Given the description of an element on the screen output the (x, y) to click on. 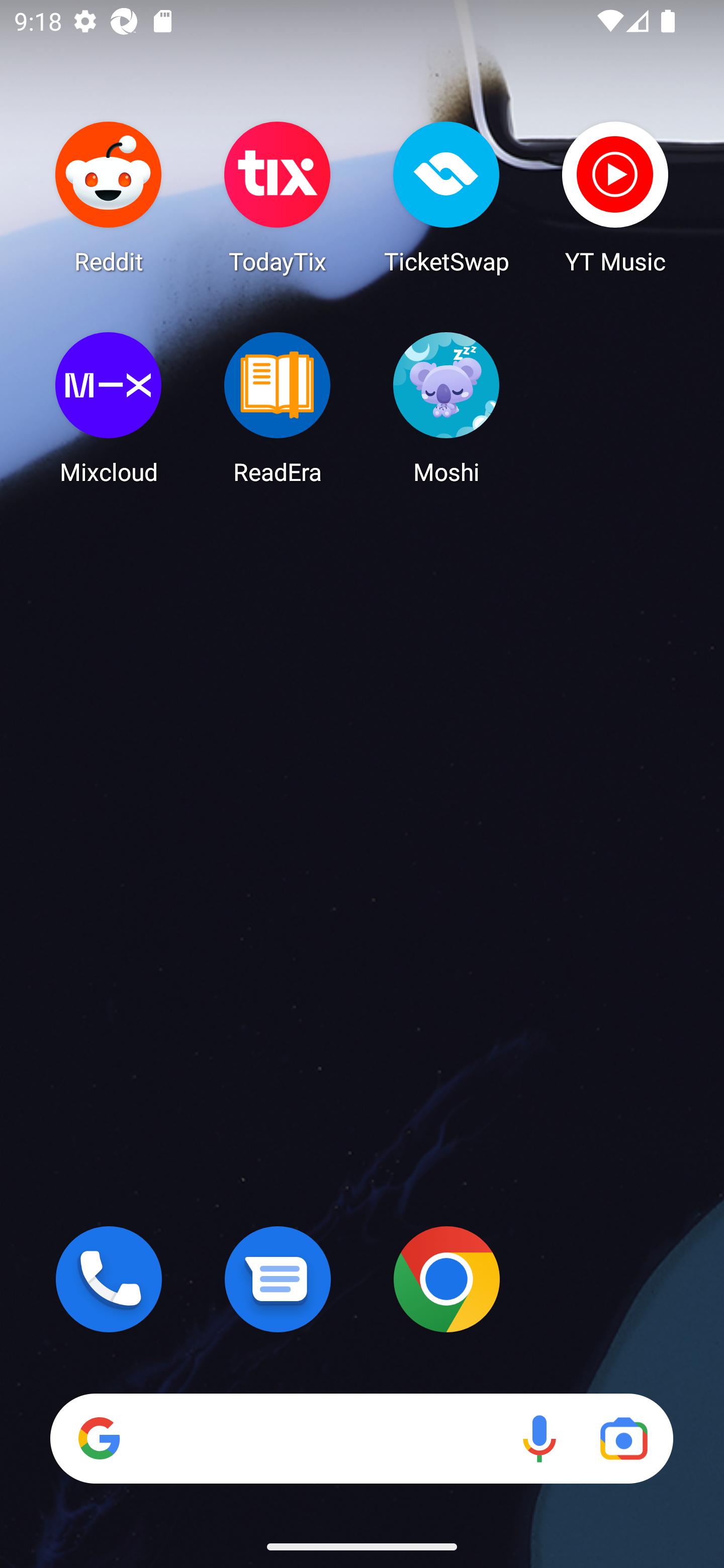
Reddit (108, 196)
TodayTix (277, 196)
TicketSwap (445, 196)
YT Music (615, 196)
Mixcloud (108, 407)
ReadEra (277, 407)
Moshi (445, 407)
Phone (108, 1279)
Messages (277, 1279)
Chrome (446, 1279)
Voice search (539, 1438)
Google Lens (623, 1438)
